Given the description of an element on the screen output the (x, y) to click on. 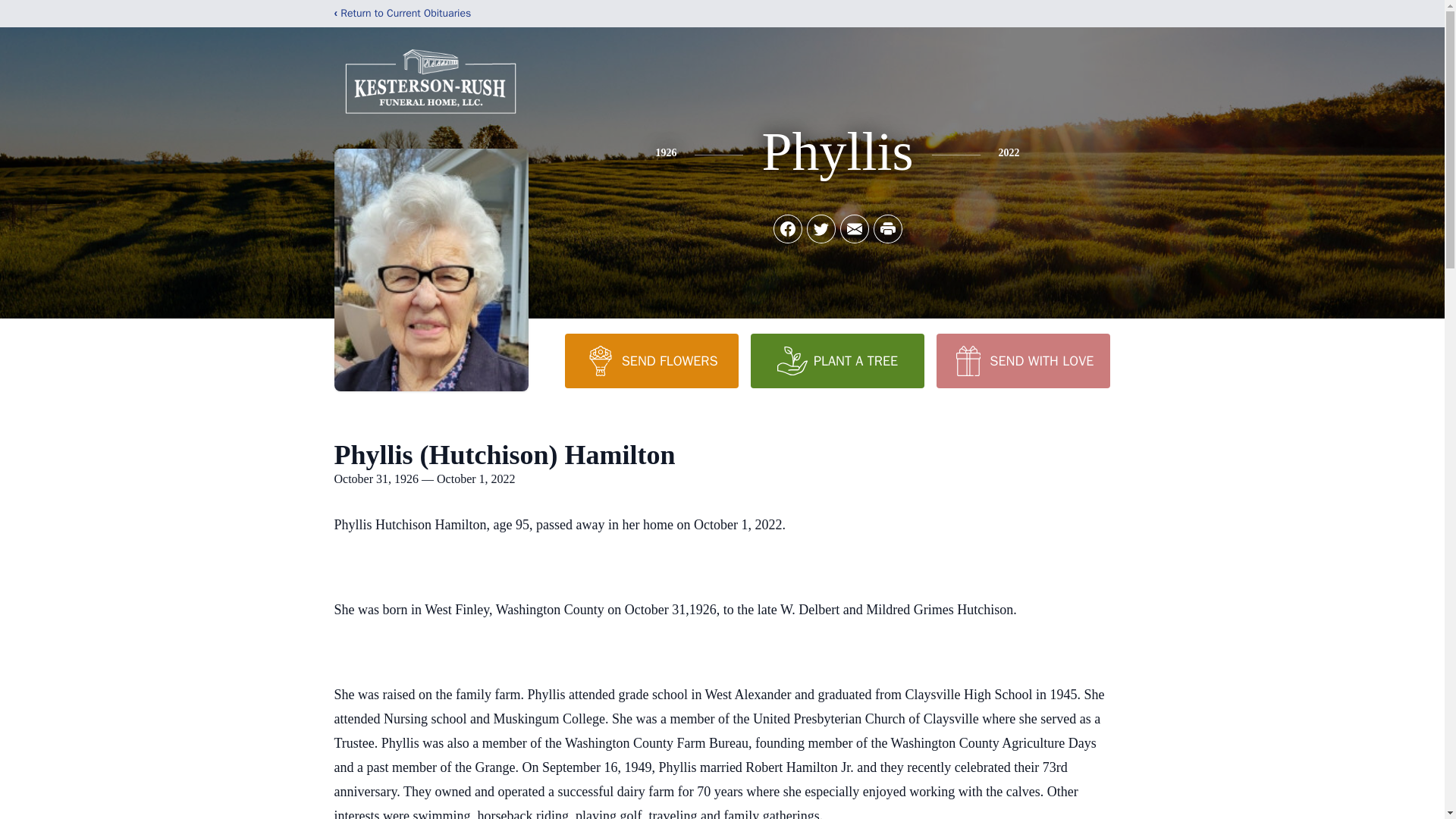
SEND WITH LOVE (1022, 360)
PLANT A TREE (837, 360)
SEND FLOWERS (651, 360)
